Given the description of an element on the screen output the (x, y) to click on. 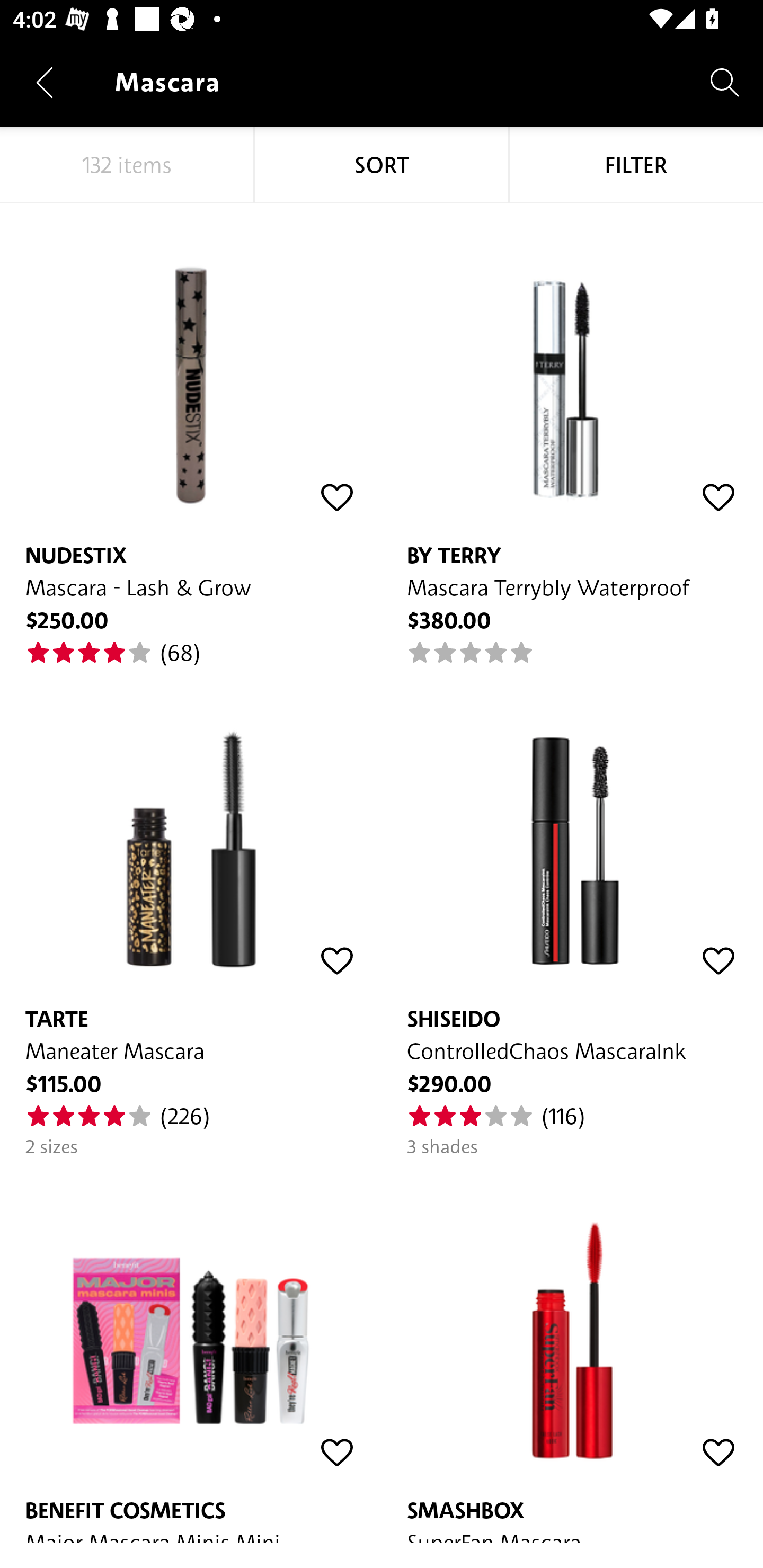
Navigate up (44, 82)
Search (724, 81)
SORT (381, 165)
FILTER (636, 165)
NUDESTIX Mascara - Lash & Grow $250.00 (68) (190, 434)
BY TERRY Mascara Terrybly Waterproof  $380.00 (571, 434)
TARTE Maneater Mascara $115.00 (226) 2 sizes (190, 912)
SMASHBOX SuperFan Mascara $220.00 (571, 1350)
